Given the description of an element on the screen output the (x, y) to click on. 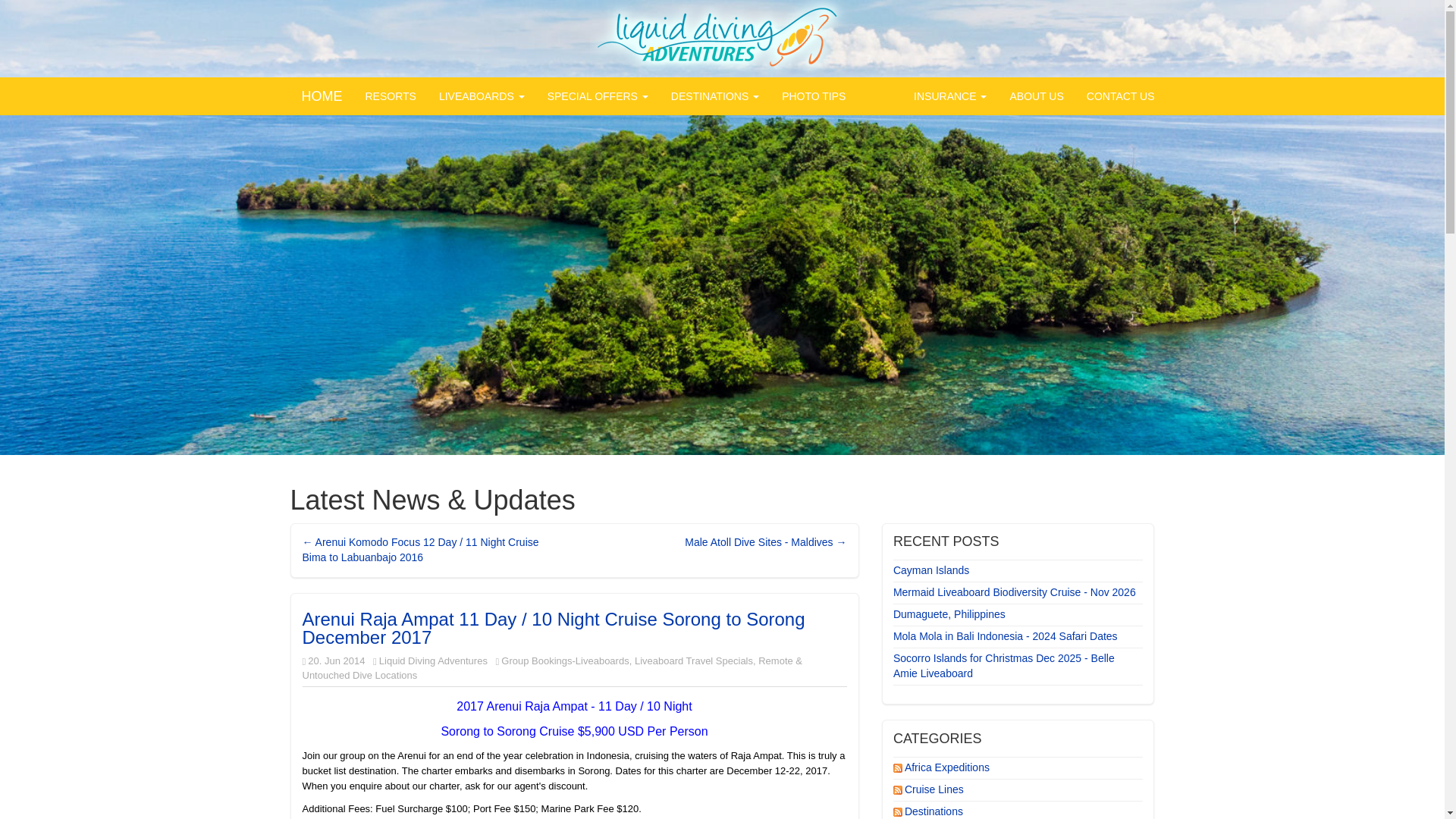
LIVEABOARDS (481, 95)
Category: Cruise Lines (935, 788)
INSURANCE (949, 95)
PHOTO TIPS (813, 95)
CONTACT US (1120, 95)
HOME (321, 95)
Liquid Diving Adventures (432, 660)
DESTINATIONS (714, 95)
SPECIAL OFFERS (597, 95)
Group Bookings-Liveaboards (564, 660)
